Given the description of an element on the screen output the (x, y) to click on. 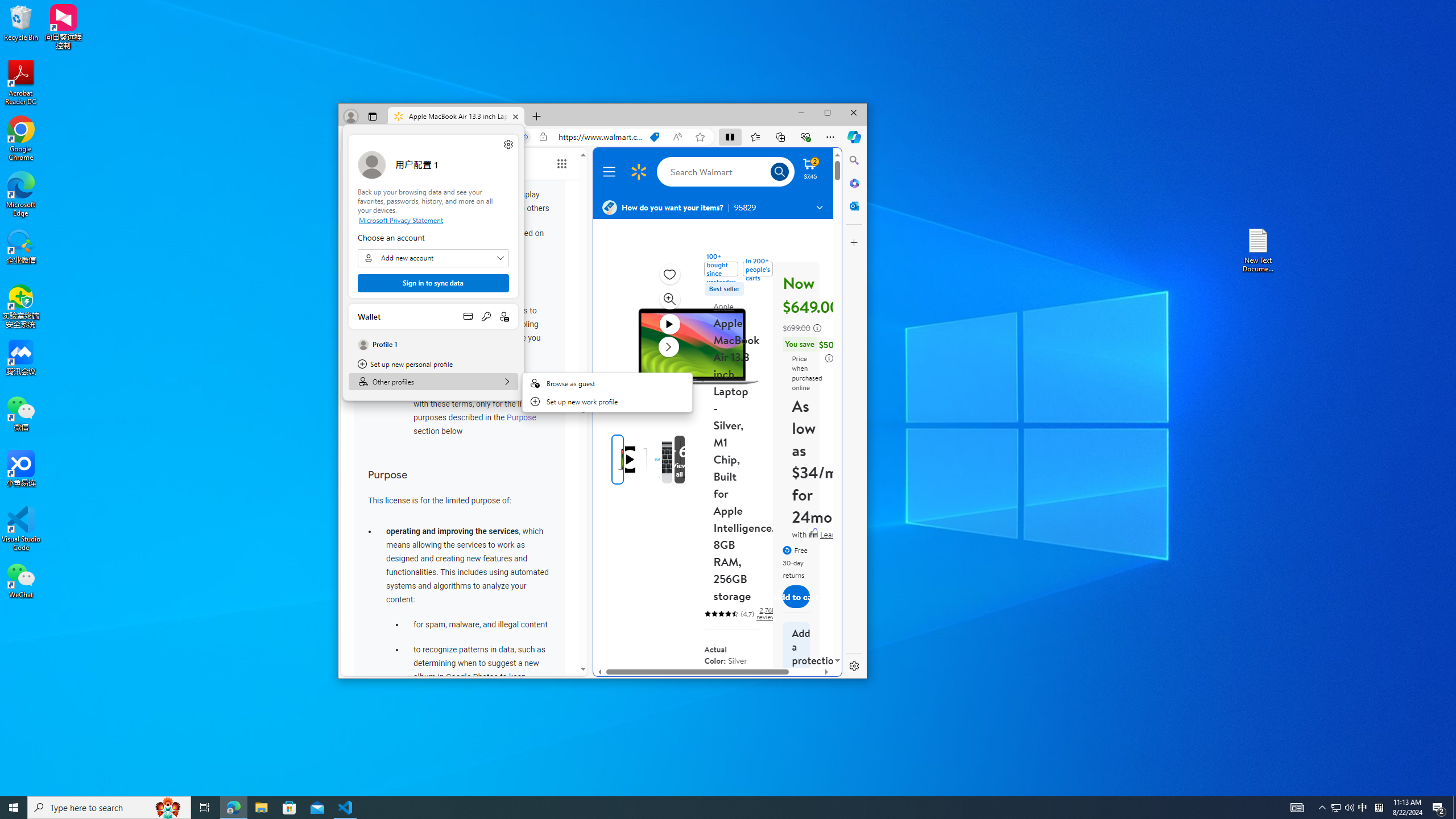
legal information (829, 357)
Notification Chevron (1322, 807)
selected, Silver, $649.00 (744, 692)
Close Search pane (854, 159)
Action Center, 2 new notifications (1439, 807)
Choose an account (433, 257)
Silver (745, 684)
Manage profile settings (508, 144)
Task View (204, 807)
Zoom image modal (669, 299)
User Promoted Notification Area (1342, 807)
